Given the description of an element on the screen output the (x, y) to click on. 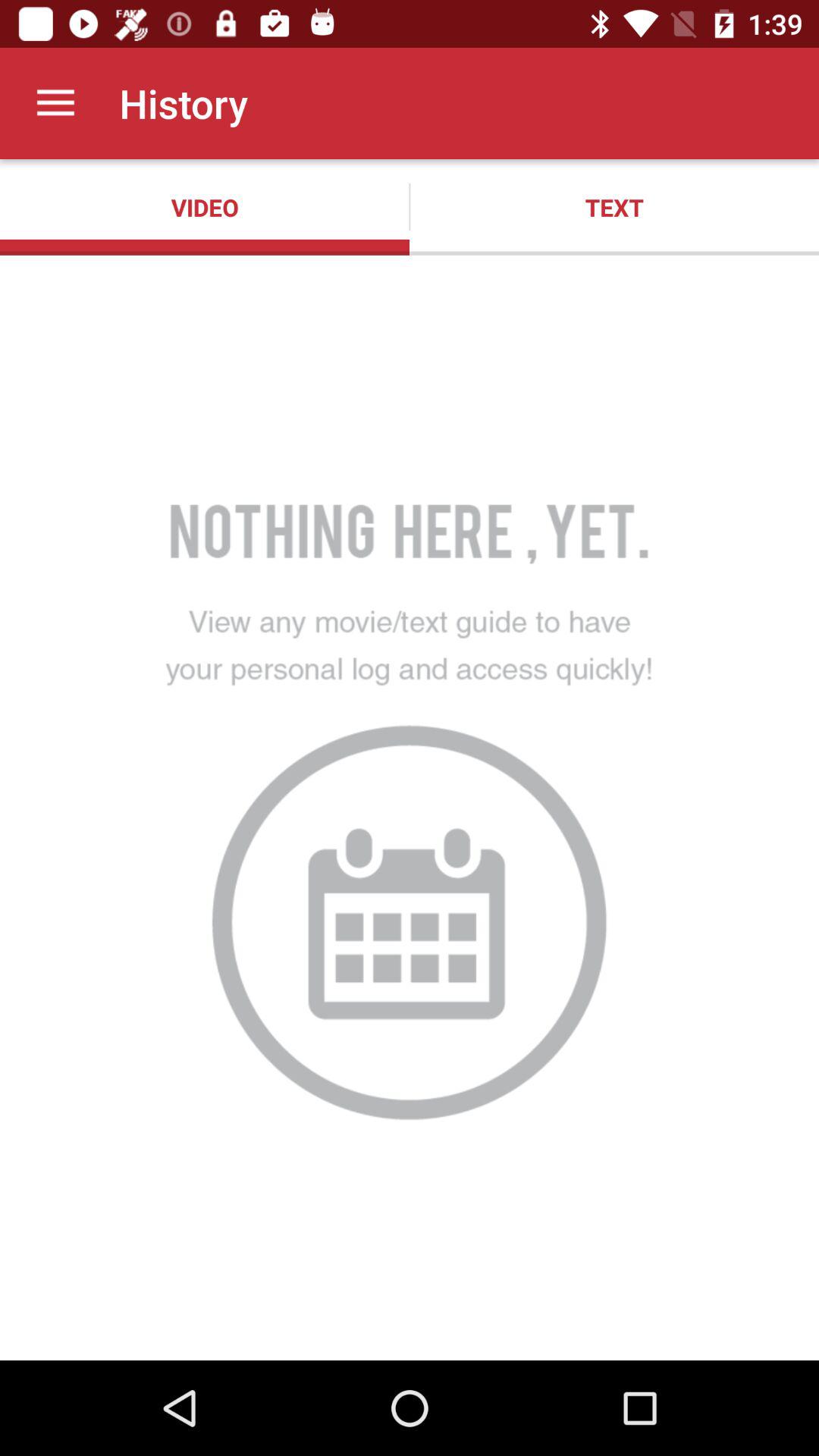
jump to the text item (614, 207)
